Given the description of an element on the screen output the (x, y) to click on. 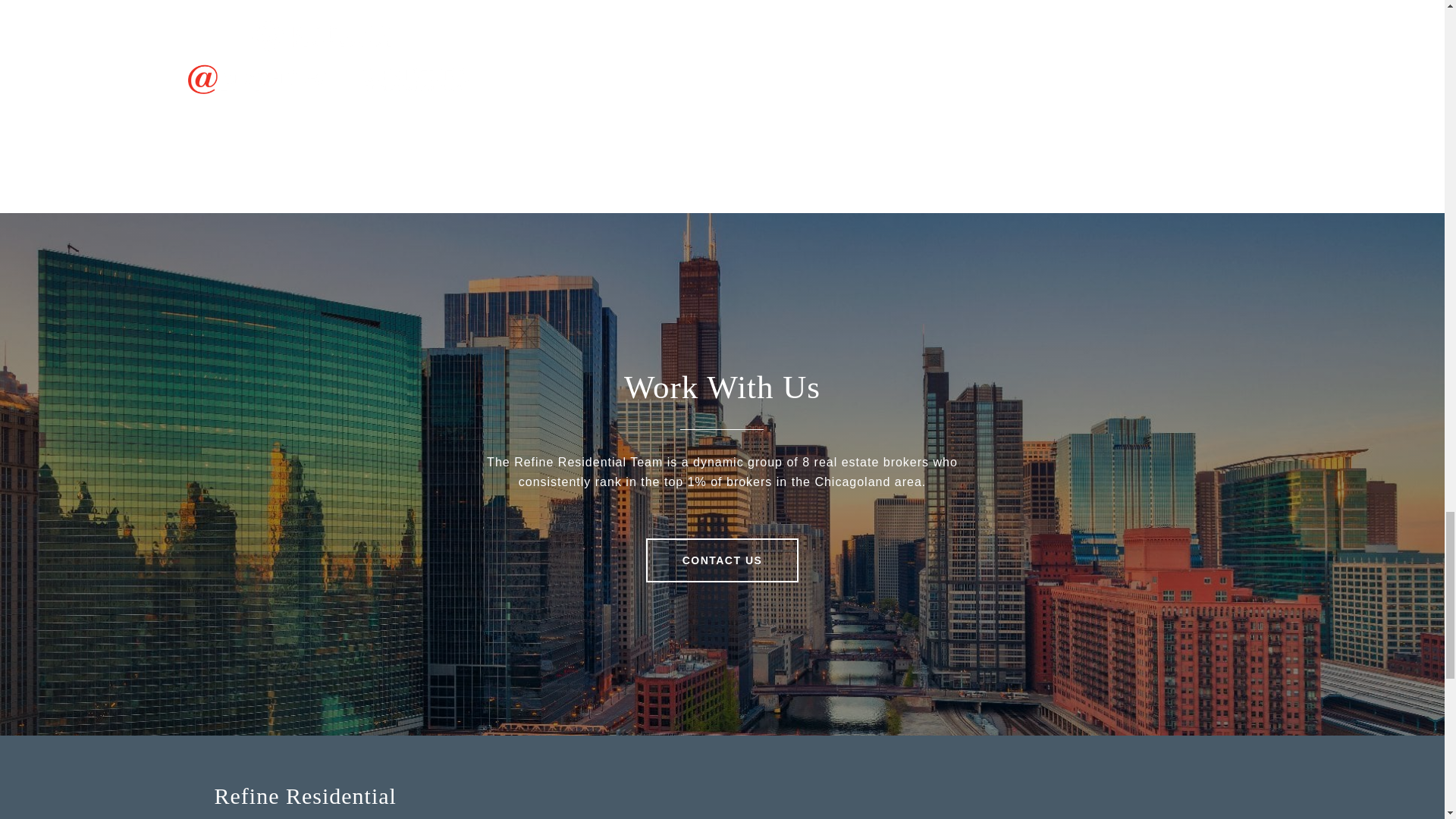
CONTACT US (722, 560)
